Given the description of an element on the screen output the (x, y) to click on. 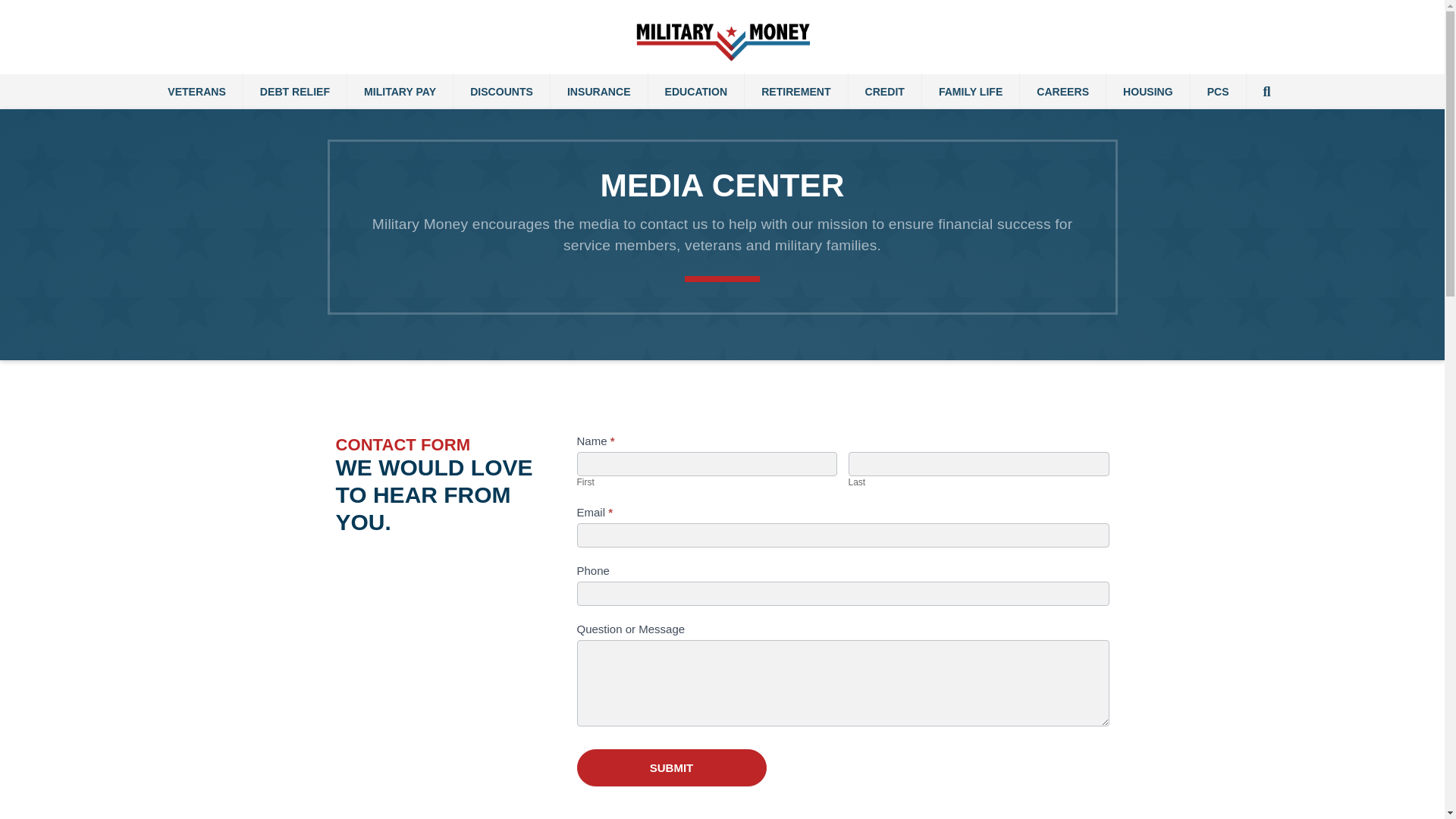
SUBMIT (670, 767)
CREDIT (884, 91)
FAMILY LIFE (970, 91)
MILITARY PAY (399, 91)
DEBT RELIEF (294, 91)
PCS (1218, 91)
INSURANCE (598, 91)
EDUCATION (695, 91)
CAREERS (1062, 91)
Search (1270, 90)
RETIREMENT (795, 91)
DISCOUNTS (501, 91)
HOUSING (1147, 91)
VETERANS (197, 91)
Military Money logo (721, 40)
